Given the description of an element on the screen output the (x, y) to click on. 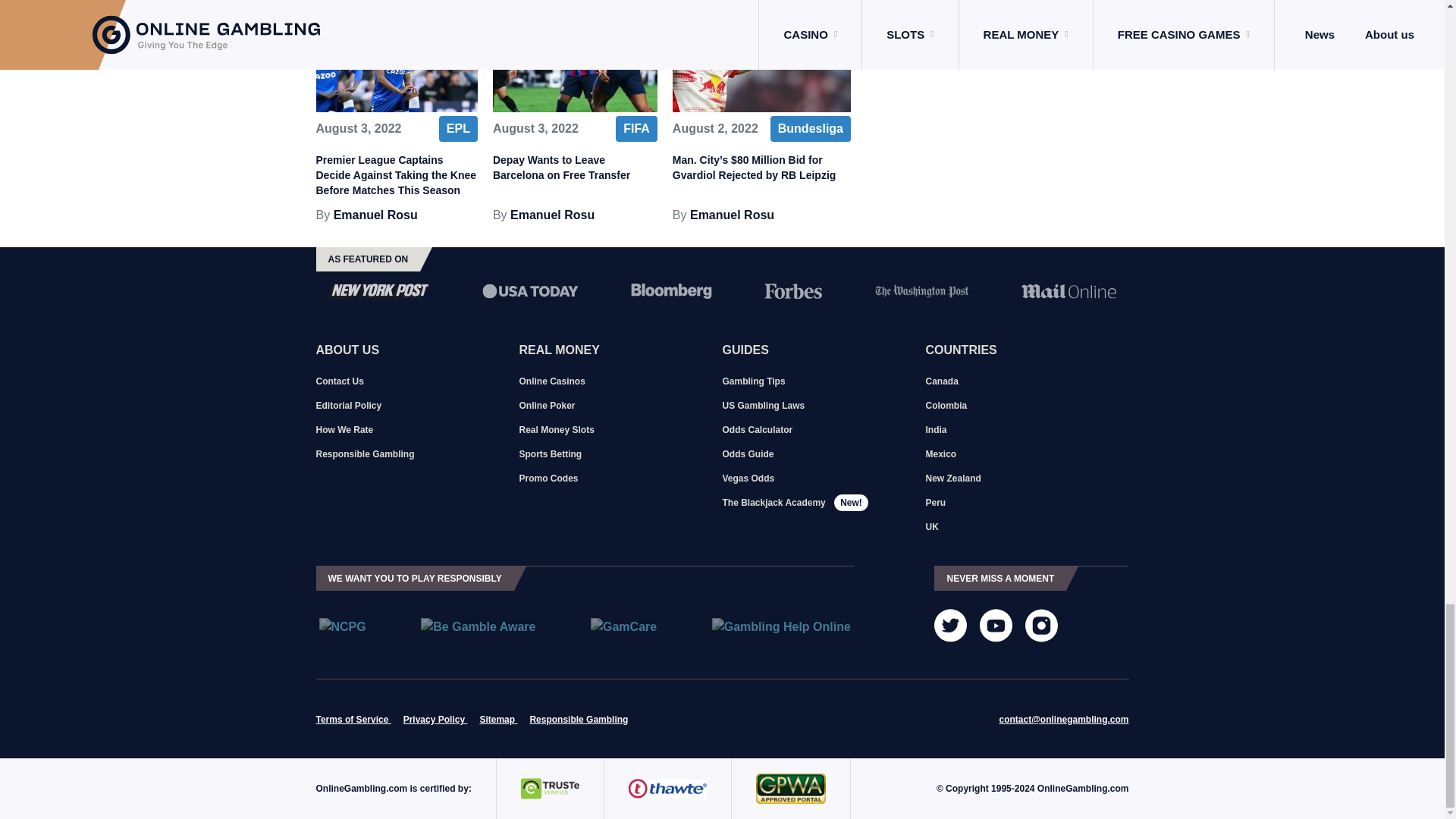
EPL (458, 128)
Bundesliga (810, 128)
FIFA (636, 128)
